Given the description of an element on the screen output the (x, y) to click on. 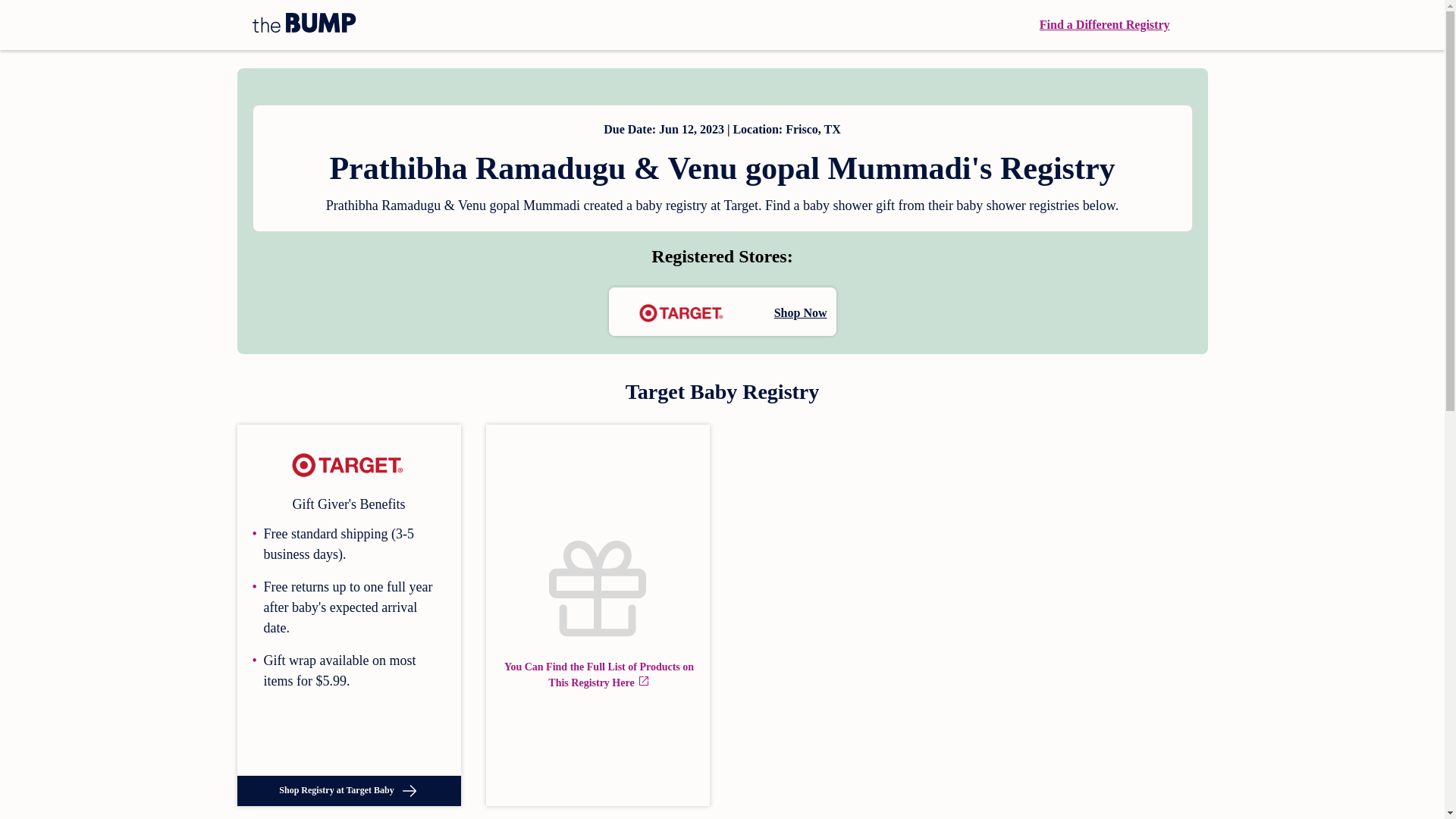
Shop Now (721, 311)
Shop Registry at Target Baby (347, 790)
Find a Different Registry (1104, 24)
